Given the description of an element on the screen output the (x, y) to click on. 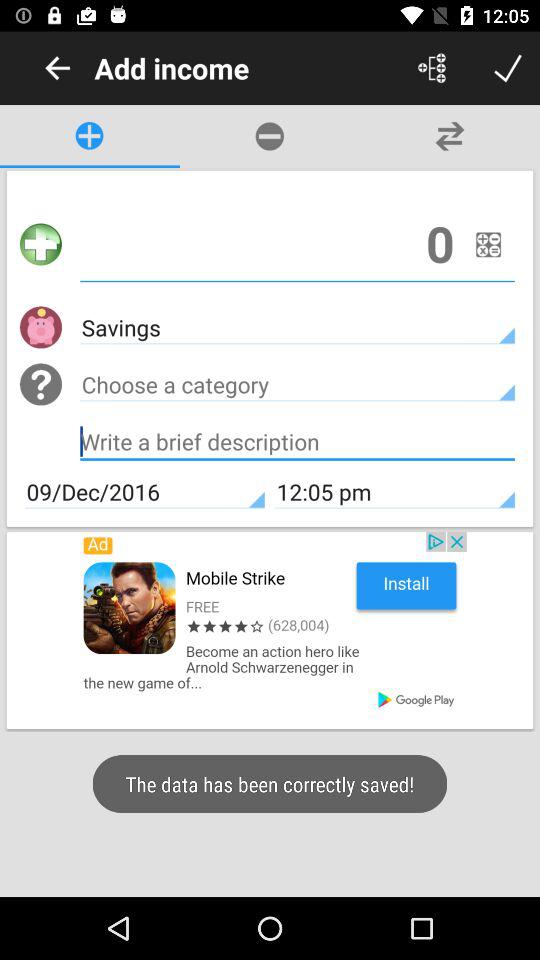
to share (431, 67)
